Given the description of an element on the screen output the (x, y) to click on. 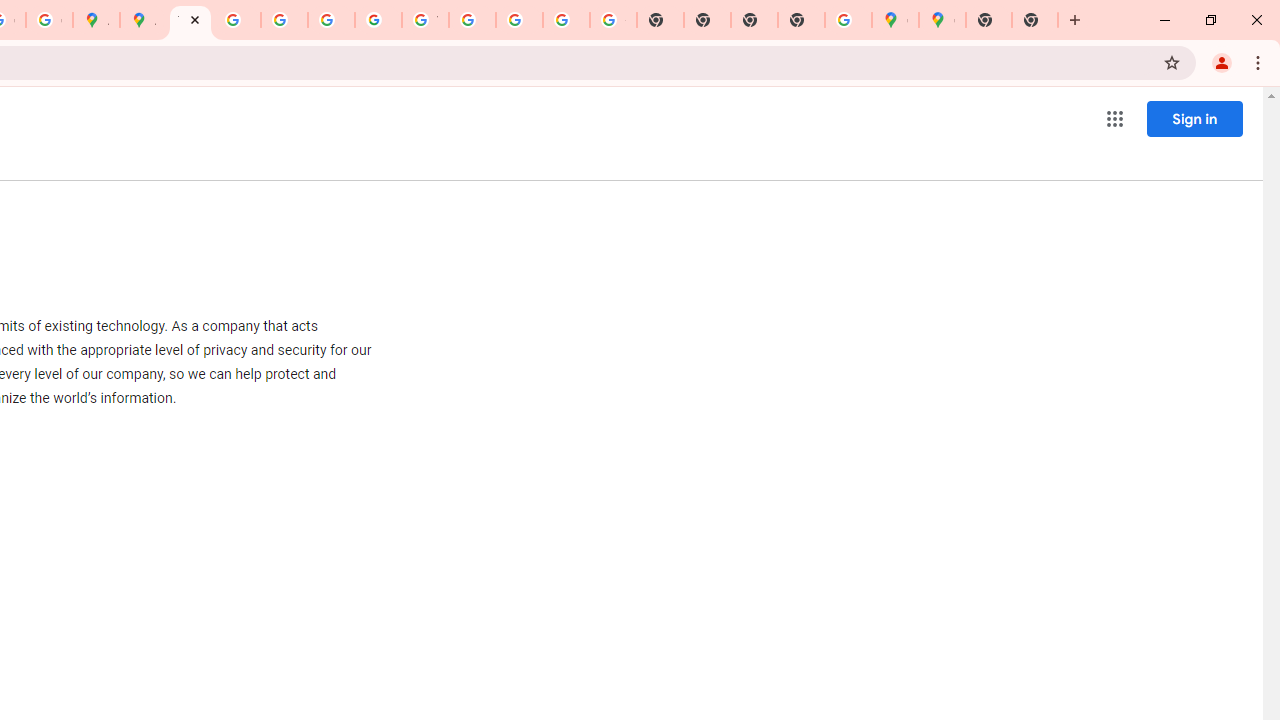
YouTube (425, 20)
Use Google Maps in Space - Google Maps Help (848, 20)
Restore (1210, 20)
Chrome (1260, 62)
Google apps (1114, 118)
Sign in (1194, 118)
Close (194, 19)
Privacy Help Center - Policies Help (284, 20)
Google Maps (942, 20)
